Given the description of an element on the screen output the (x, y) to click on. 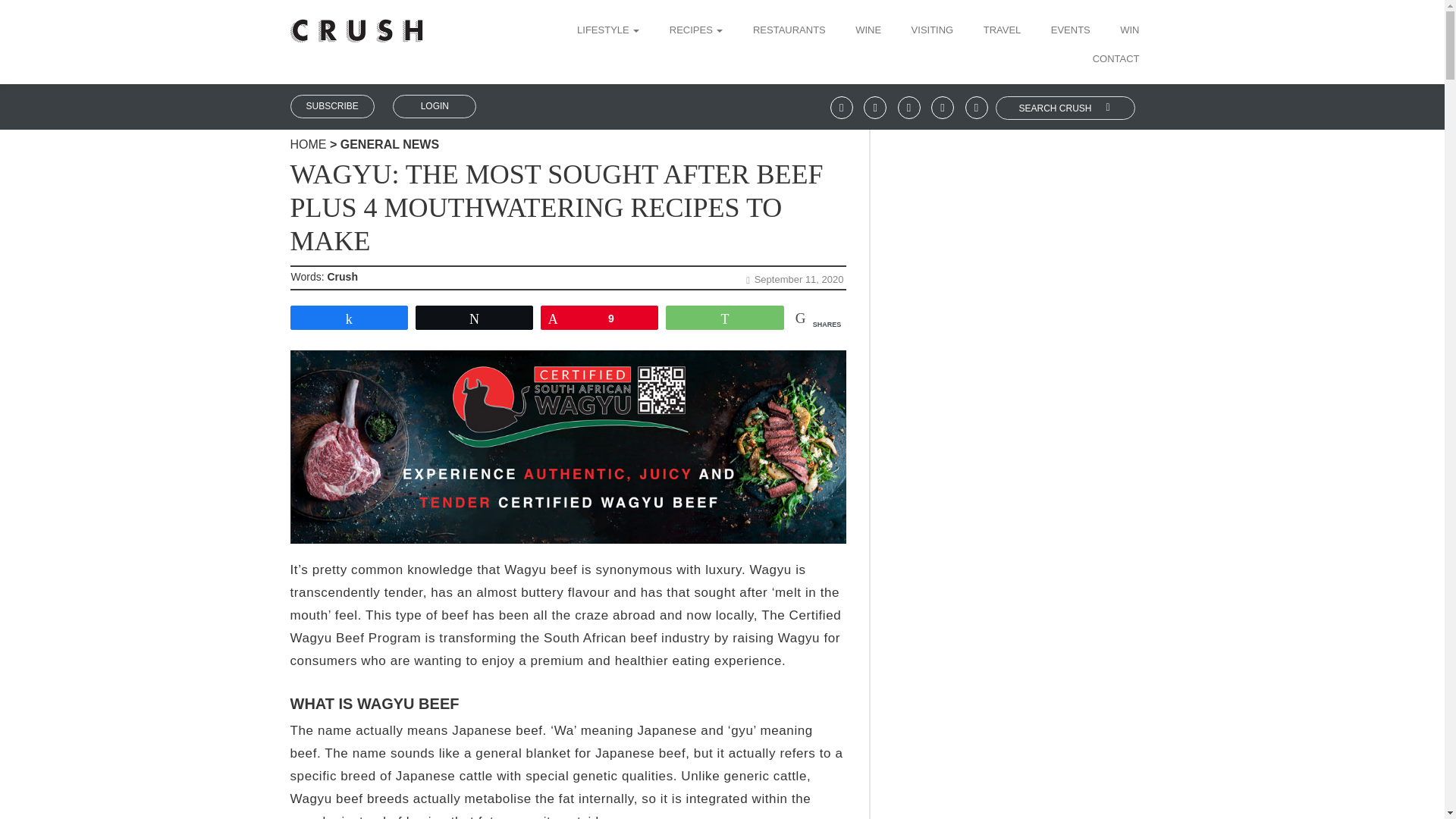
RESTAURANTS (789, 31)
LIFESTYLE (613, 31)
WIN (1129, 31)
EVENTS (1070, 31)
WINE (868, 31)
VISITING (932, 31)
RECIPES (696, 31)
Crush Mag Online (355, 24)
CONTACT (1116, 59)
TRAVEL (1002, 31)
